Given the description of an element on the screen output the (x, y) to click on. 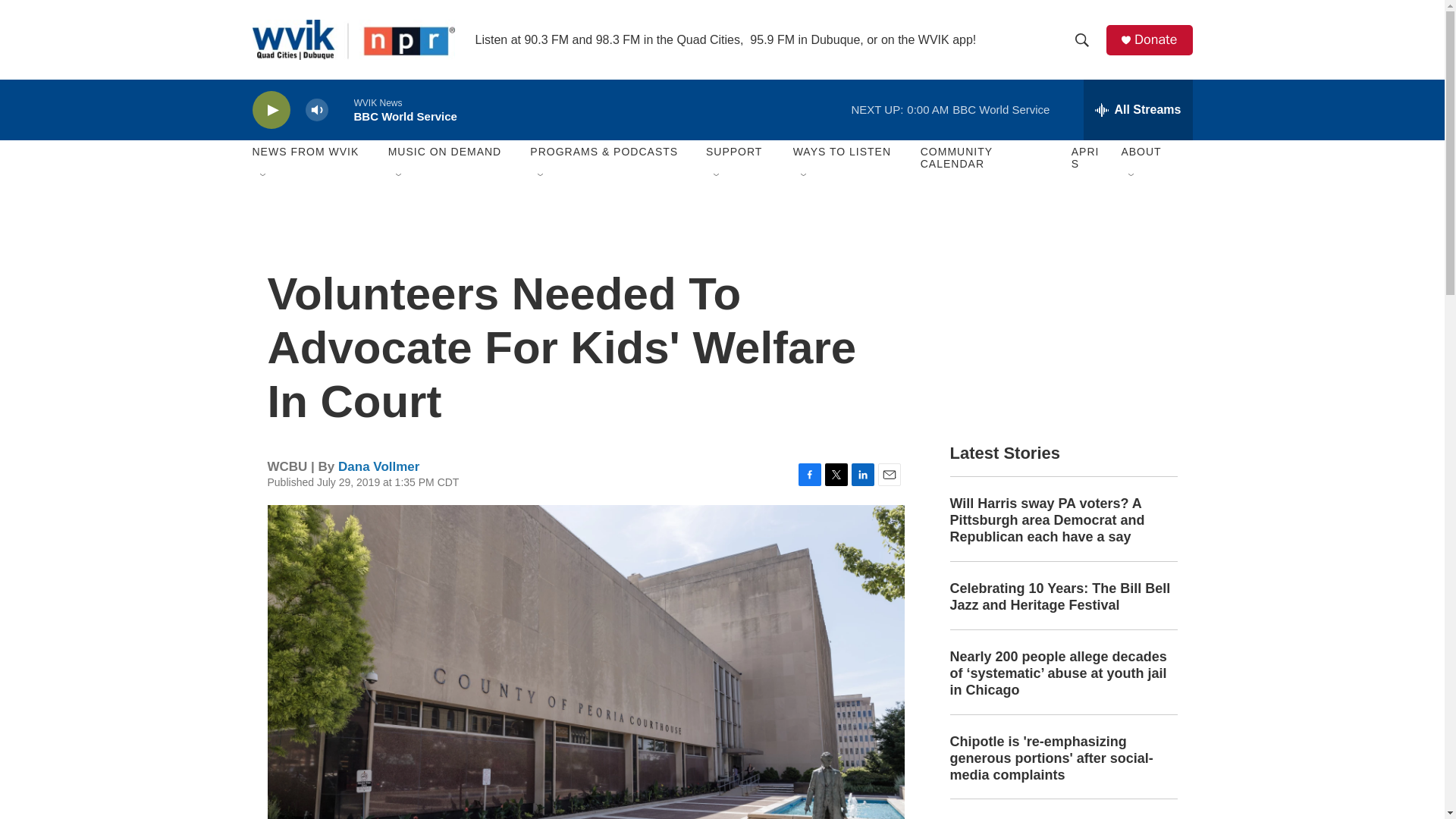
3rd party ad content (1062, 316)
